Given the description of an element on the screen output the (x, y) to click on. 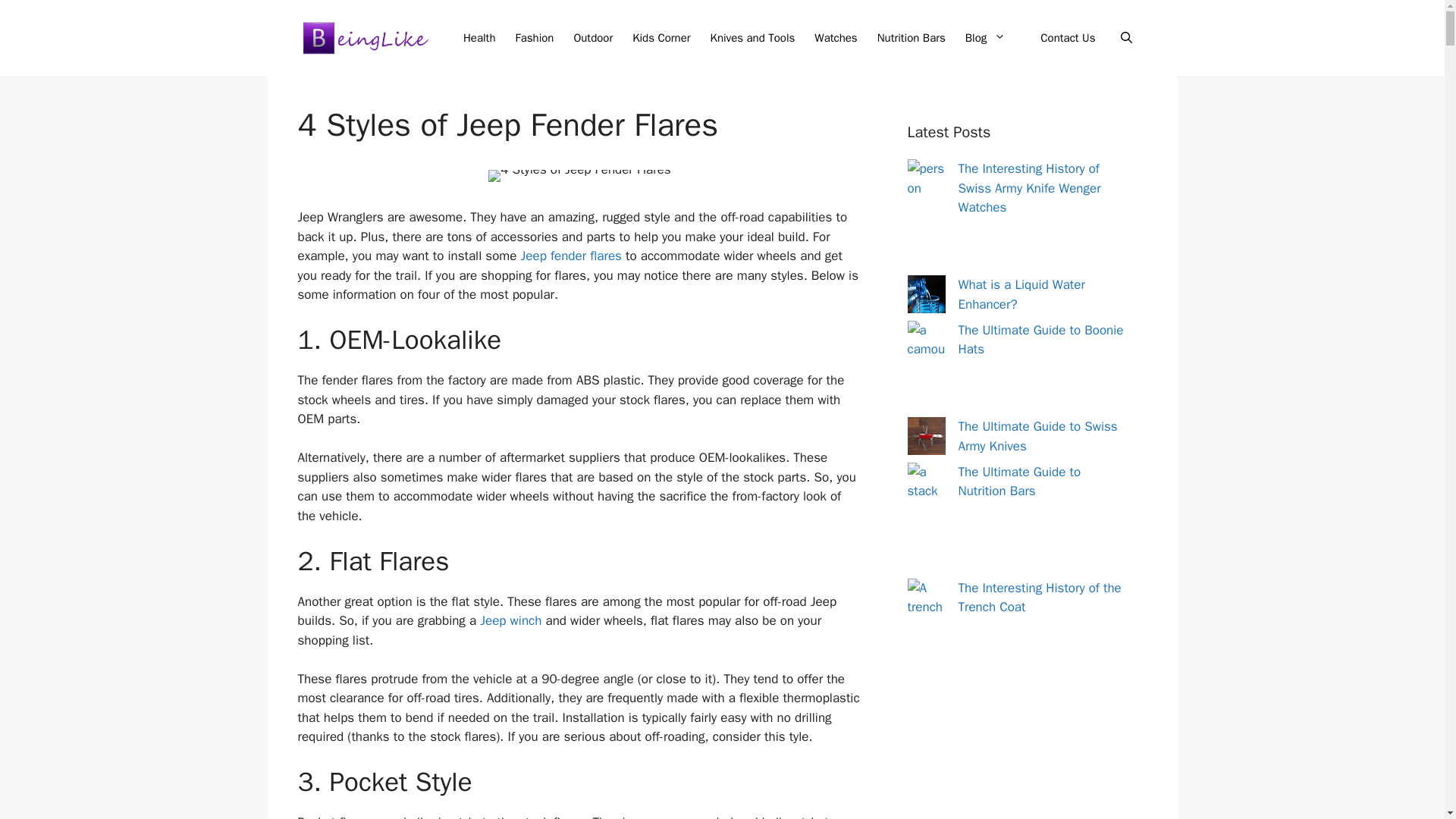
The Ultimate Guide to Swiss Army Knives (1038, 436)
The Interesting History of Swiss Army Knife Wenger Watches (1029, 187)
Outdoor (593, 37)
What is a Liquid Water Enhancer? (1021, 294)
Contact Us (1067, 37)
Blog (992, 37)
Kids Corner (661, 37)
The Ultimate Guide to Nutrition Bars (1019, 481)
The Ultimate Guide to Boonie Hats (1041, 339)
Jeep fender flares (571, 255)
The Interesting History of the Trench Coat (1039, 597)
Health (478, 37)
Nutrition Bars (911, 37)
Watches (835, 37)
Knives and Tools (752, 37)
